Given the description of an element on the screen output the (x, y) to click on. 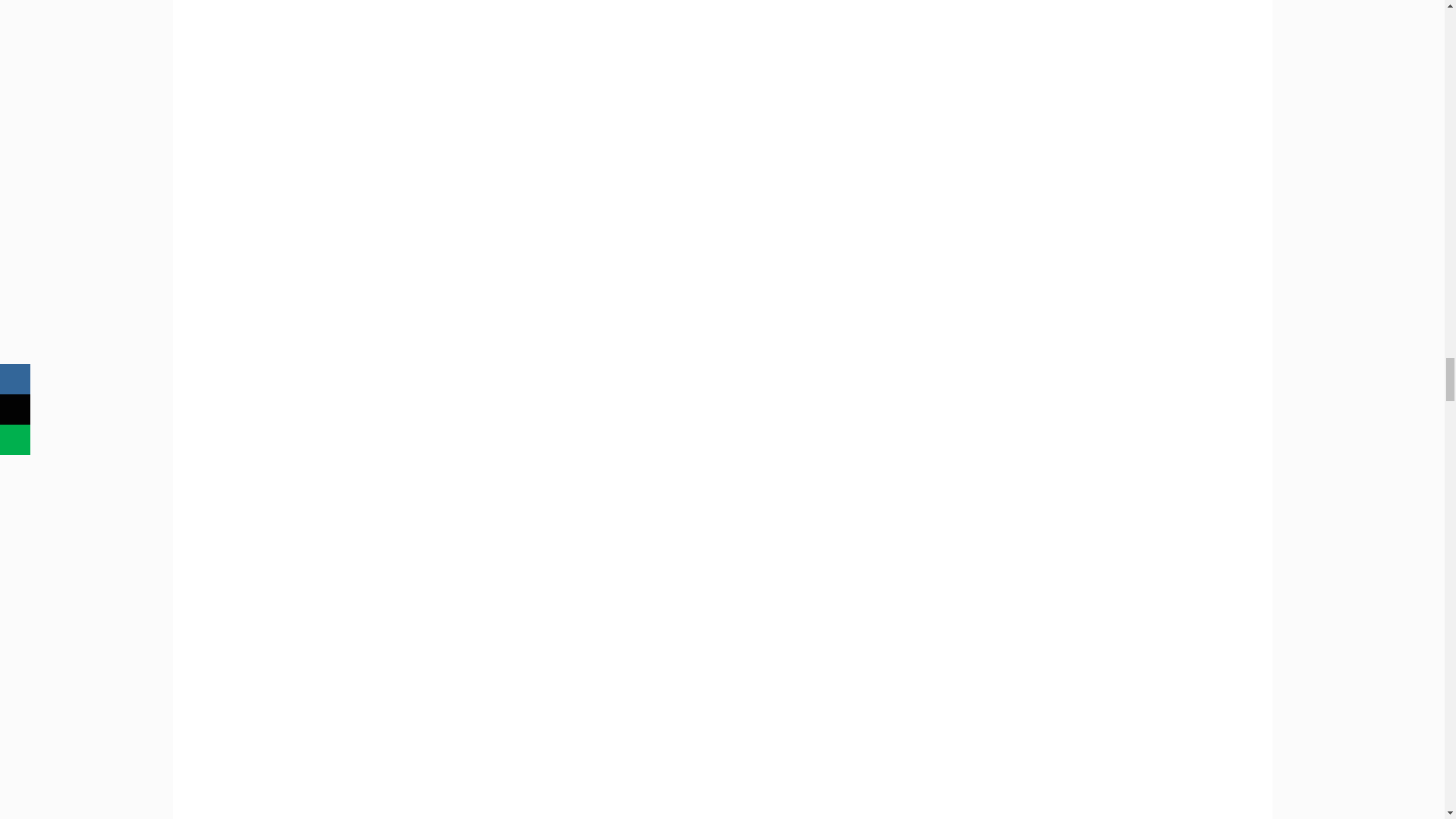
d107447f6cb3acdd9c48a9794cbbb8fcf43cb999 (573, 102)
